Given the description of an element on the screen output the (x, y) to click on. 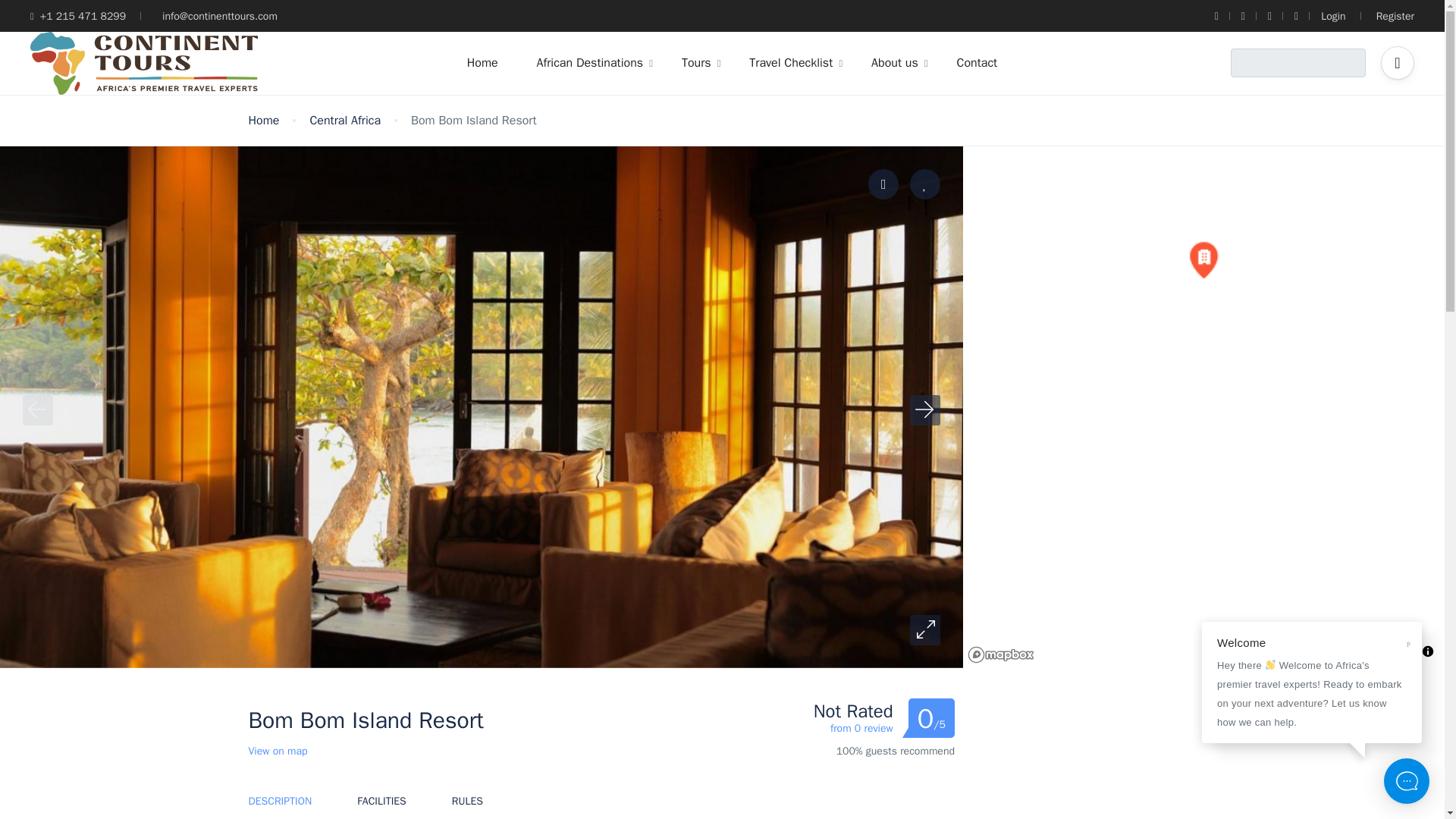
African Destinations (589, 62)
Home (482, 62)
Register (1394, 15)
Login (1332, 15)
